Given the description of an element on the screen output the (x, y) to click on. 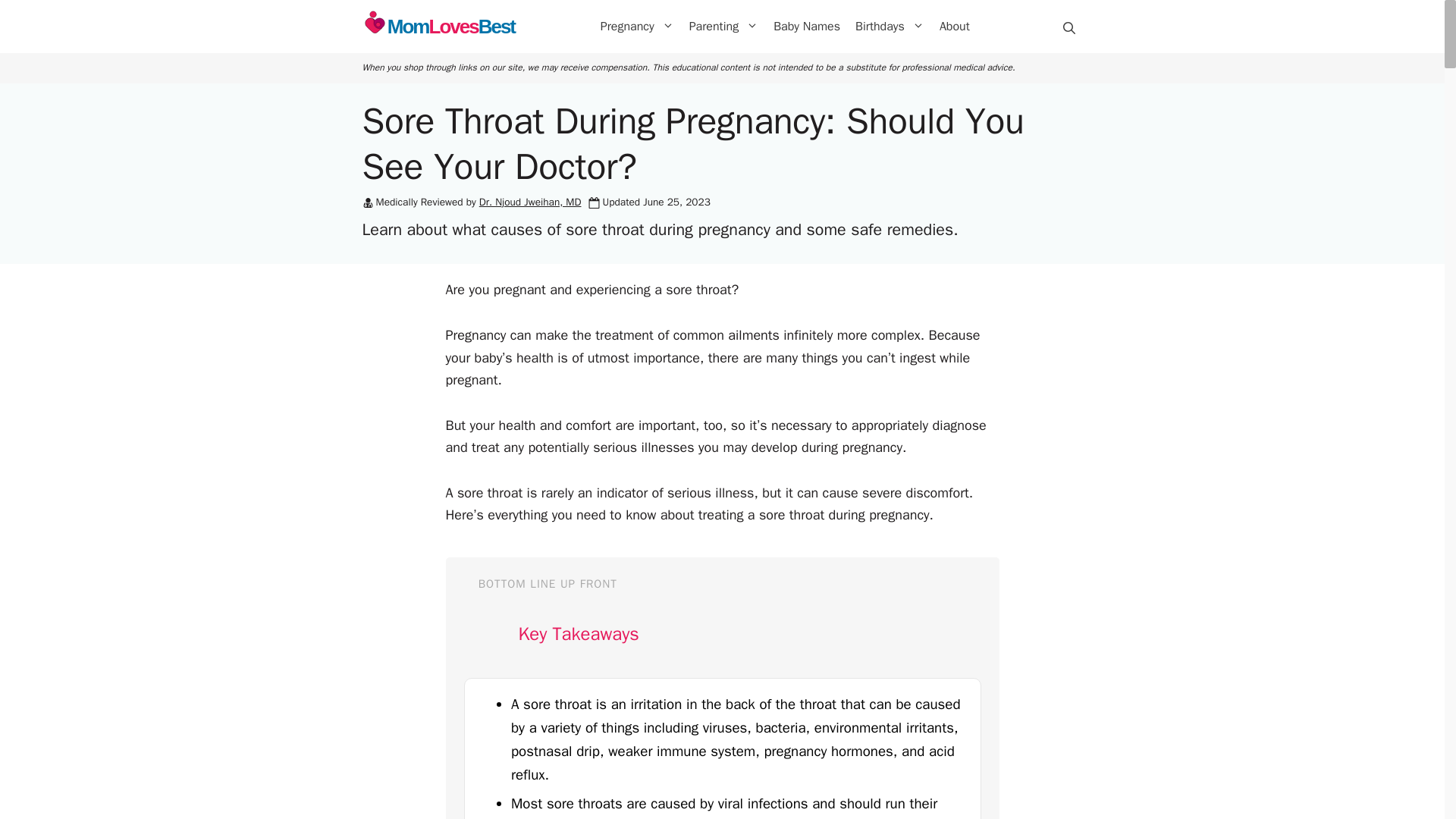
Mom Loves Best (438, 26)
Dr. Njoud Jweihan, MD (438, 26)
Baby Names (529, 201)
Birthdays (806, 26)
Pregnancy (889, 26)
About (636, 26)
Parenting (953, 26)
